Given the description of an element on the screen output the (x, y) to click on. 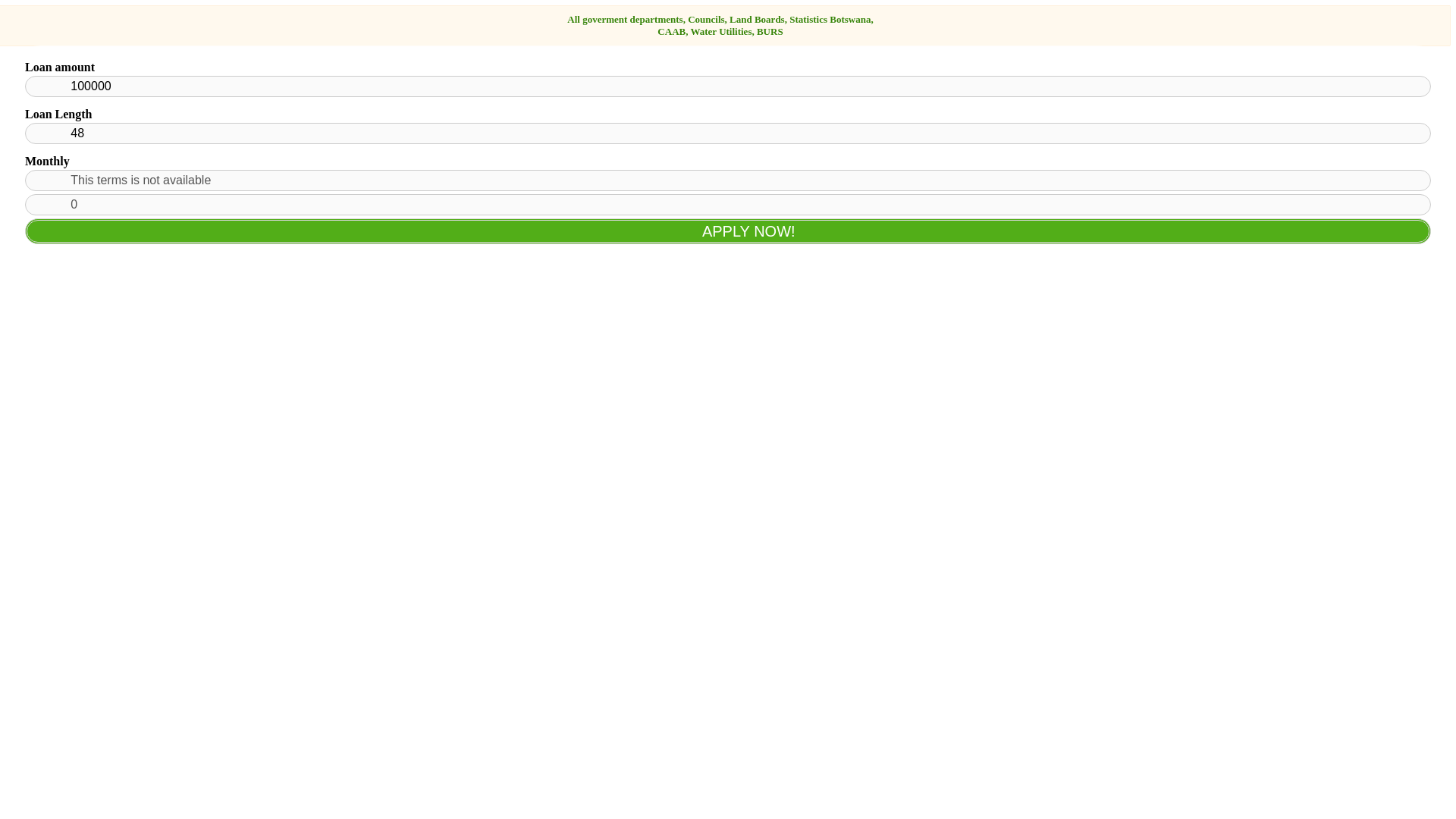
Apply now! Element type: text (727, 231)
